Given the description of an element on the screen output the (x, y) to click on. 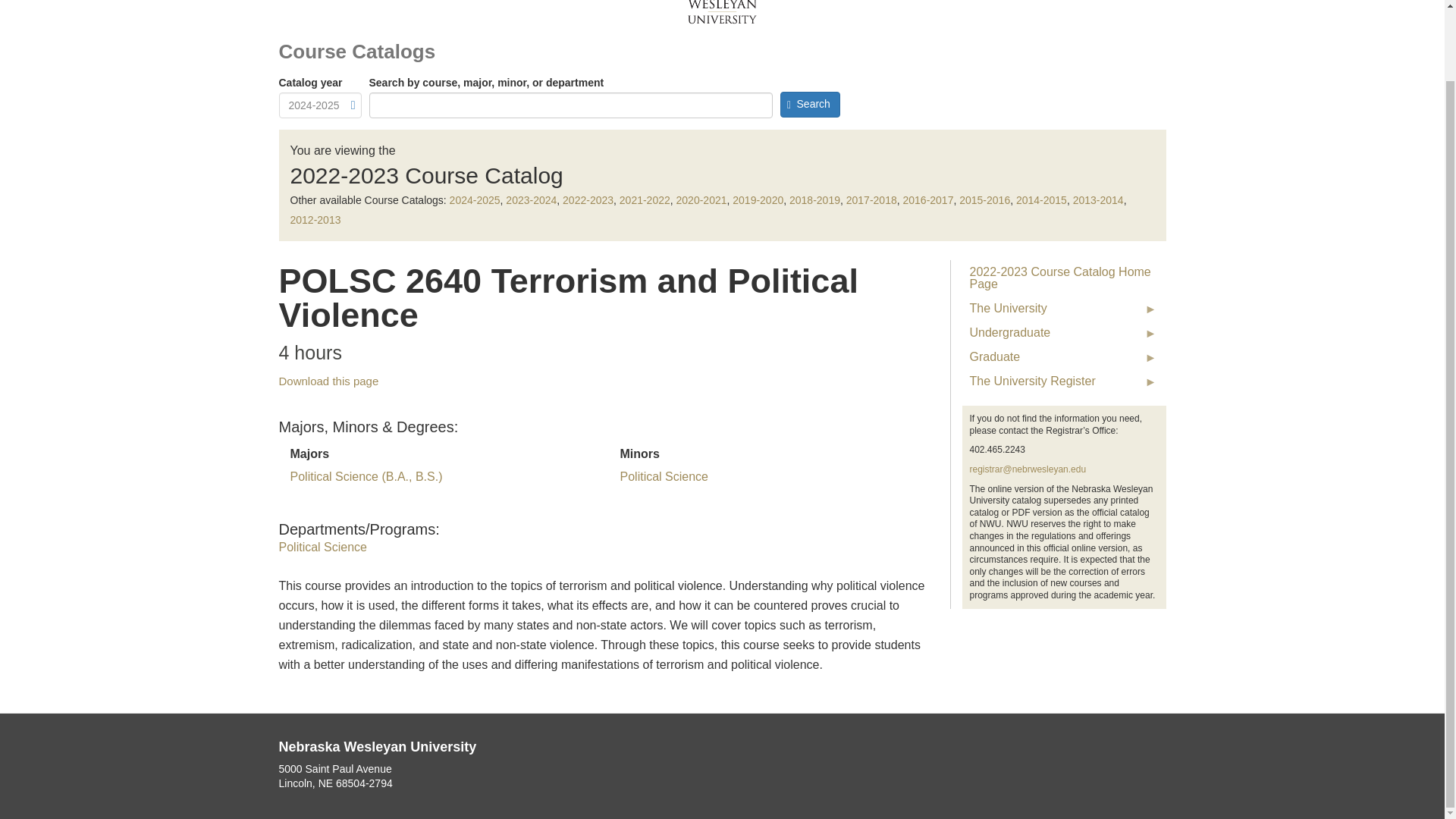
Search (809, 104)
2023-2024 (530, 200)
2022-2023 (587, 200)
2015-2016 (984, 200)
Political Science (664, 476)
2021-2022 (644, 200)
2018-2019 (814, 200)
2024-2025 (474, 200)
2014-2015 (1041, 200)
2013-2014 (1098, 200)
2012-2013 (314, 219)
2017-2018 (870, 200)
Political Science (323, 546)
Download this page (328, 380)
2022-2023 Course Catalog Home Page (1063, 278)
